Given the description of an element on the screen output the (x, y) to click on. 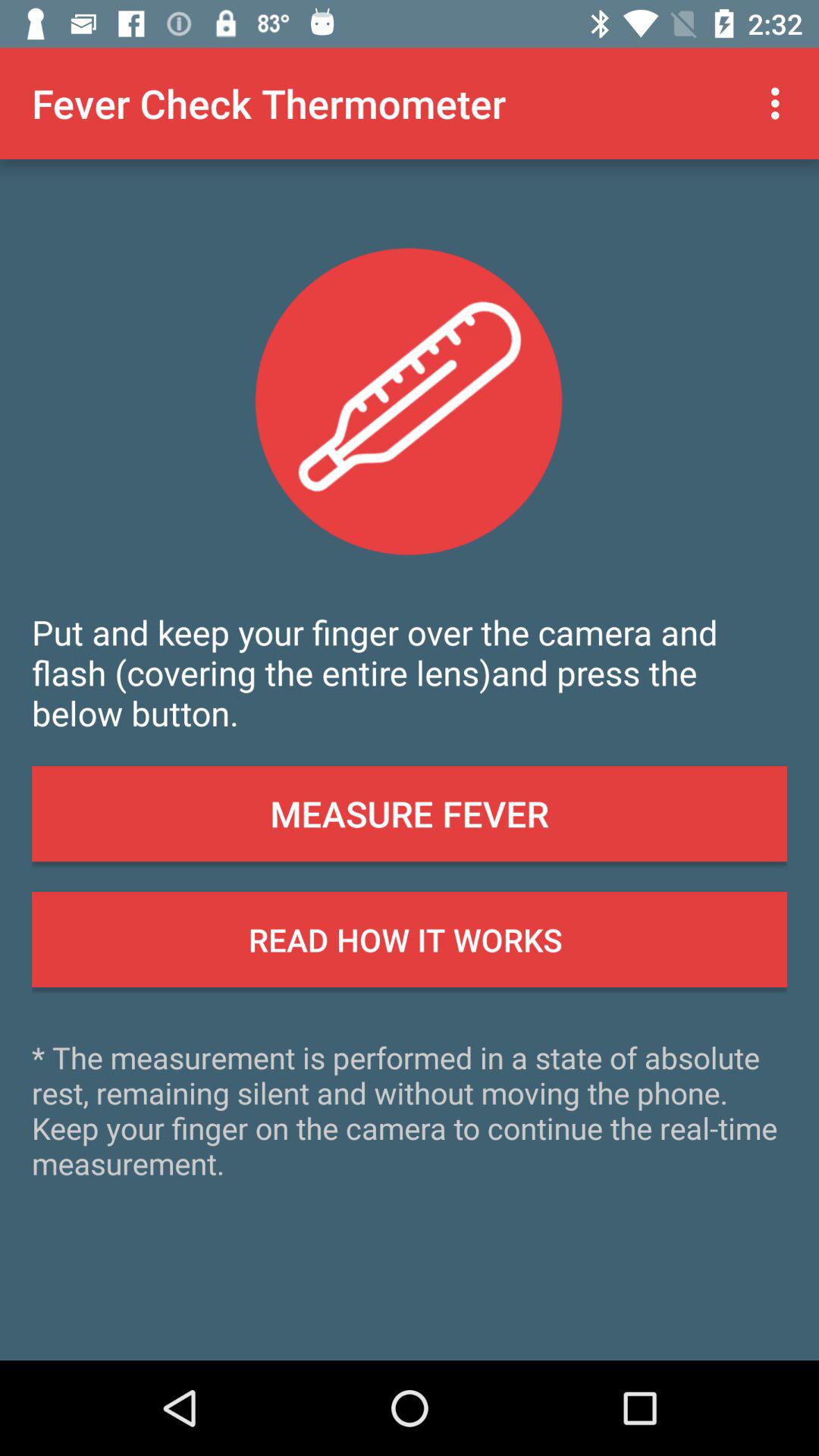
turn on app above the the measurement is icon (409, 939)
